Given the description of an element on the screen output the (x, y) to click on. 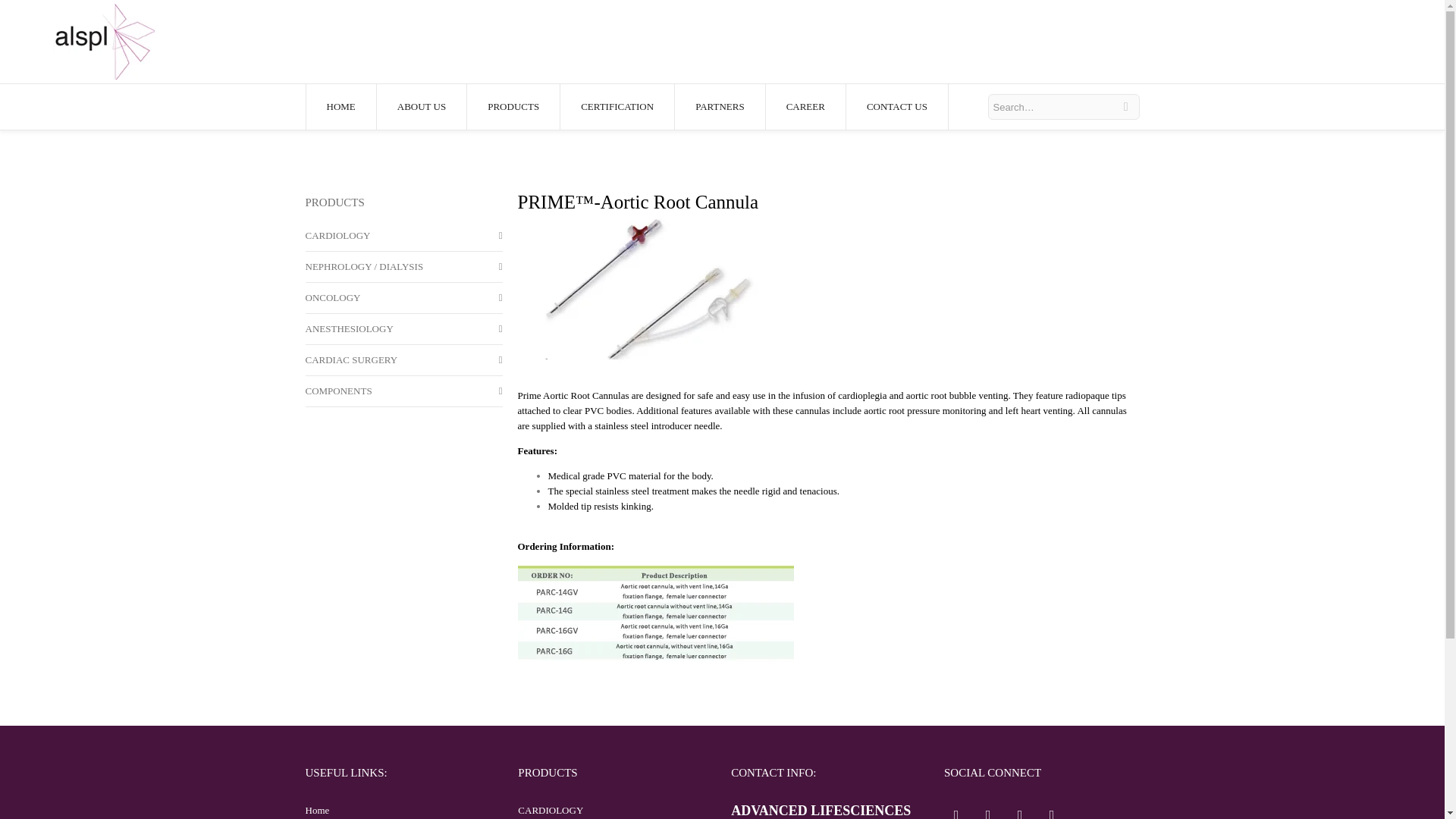
ABOUT US (421, 106)
CONTACT US (896, 106)
PRODUCTS (512, 106)
PARTNERS (719, 106)
CERTIFICATION (616, 106)
CARDIOLOGY (336, 235)
